Given the description of an element on the screen output the (x, y) to click on. 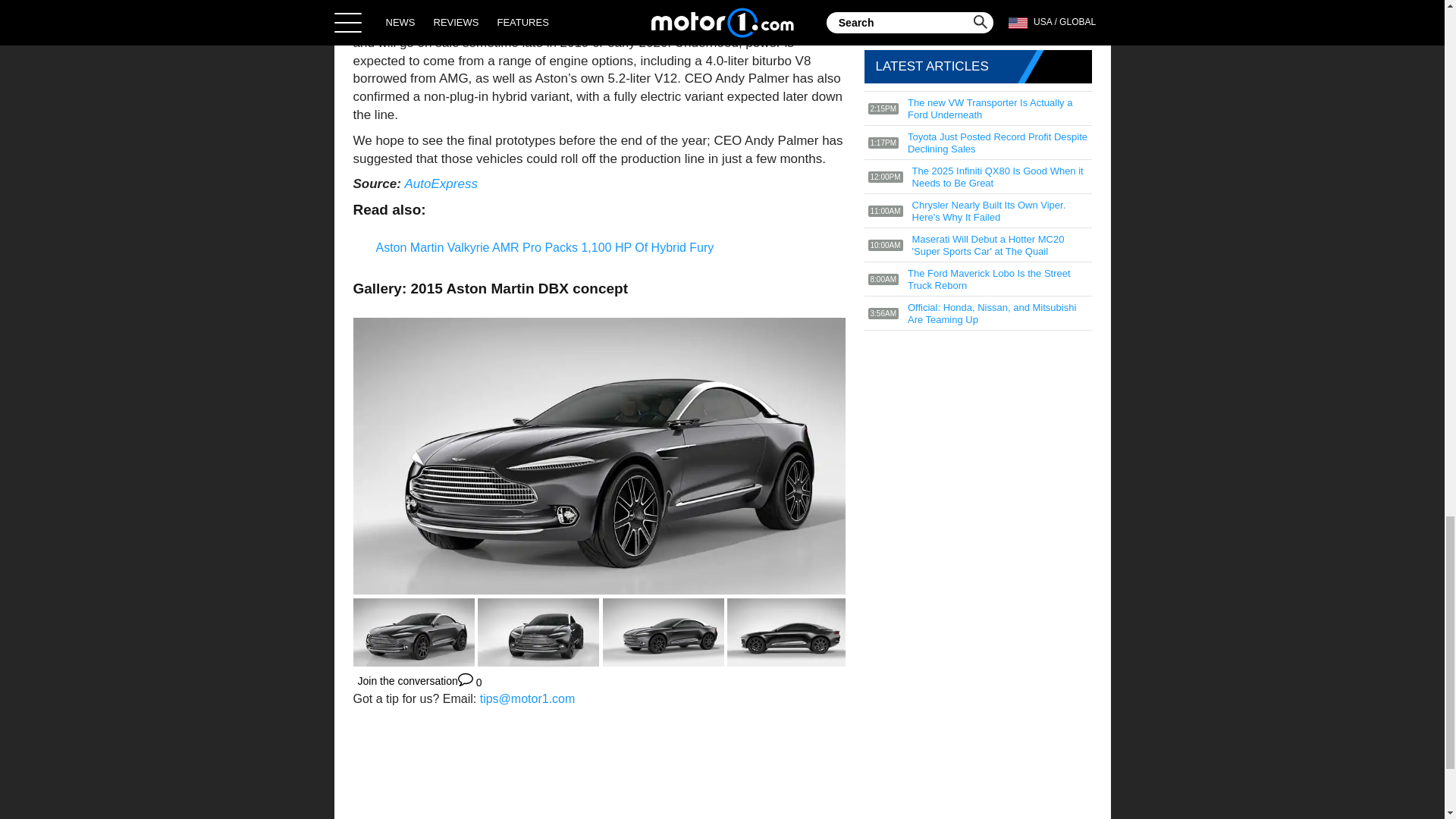
Aston Martin Valkyrie AMR Pro Packs 1,100 HP Of Hybrid Fury (544, 246)
AutoExpress (440, 183)
